Given the description of an element on the screen output the (x, y) to click on. 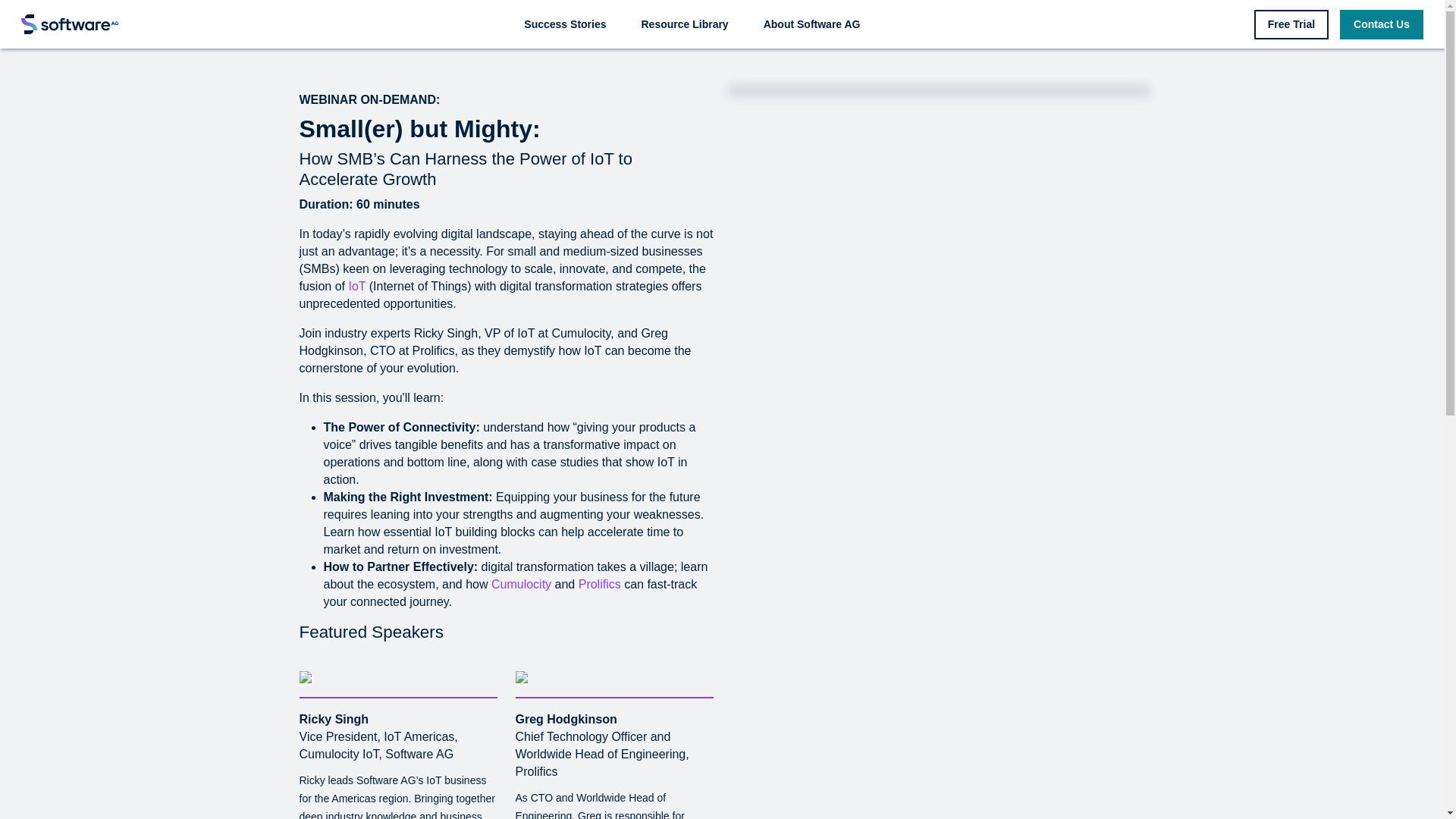
Prolifics (599, 584)
About Software AG (811, 23)
Success Stories (564, 23)
IoT (356, 286)
Software AG Logo (69, 24)
Contact Us (1381, 23)
Free Trial (1290, 23)
Cumulocity (521, 584)
Resource Library (684, 23)
